Given the description of an element on the screen output the (x, y) to click on. 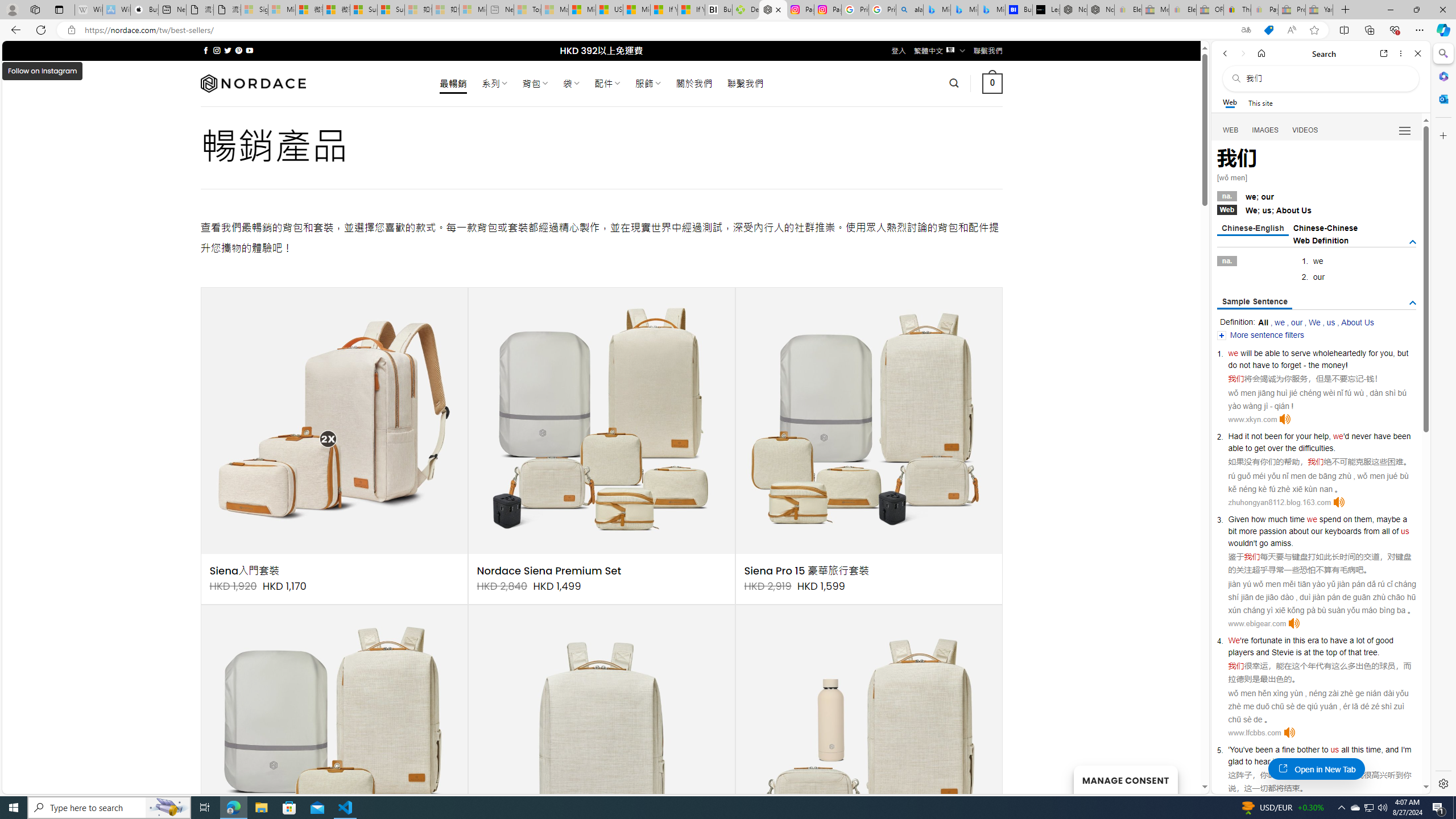
Follow on Twitter (227, 50)
going (1294, 760)
bother (1308, 749)
era (1313, 640)
time (1297, 519)
